Given the description of an element on the screen output the (x, y) to click on. 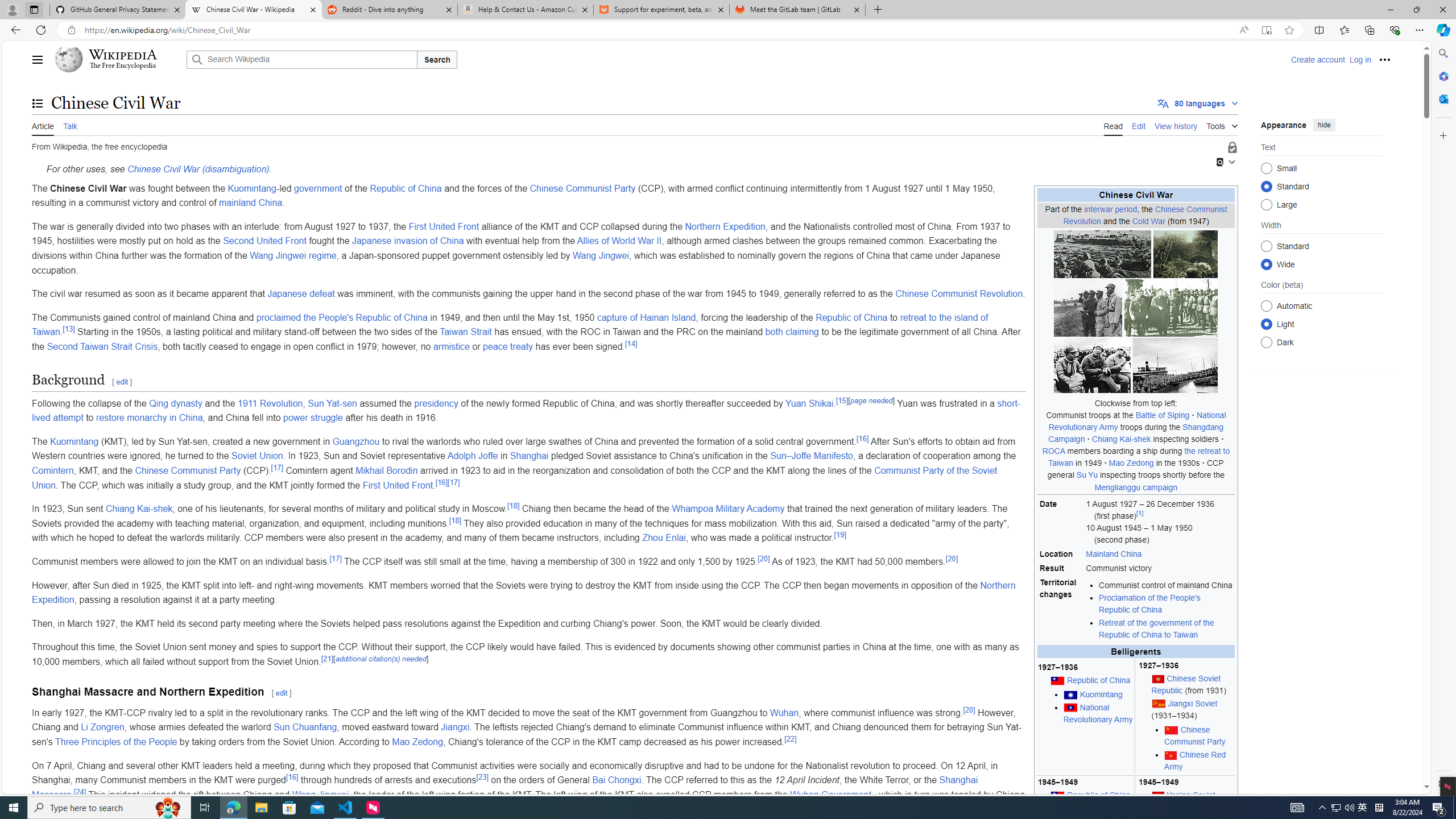
Chinese Communist Revolution (959, 293)
Second United Front (264, 240)
retreat to the island of Taiwan (510, 324)
National Revolutionary Army (1097, 712)
Page protected with pending changes (1232, 147)
Article (42, 124)
[21] (326, 658)
Chinese Communist Party (188, 470)
Whampoa Military Academy (727, 508)
GitHub General Privacy Statement - GitHub Docs (117, 9)
peace treaty (507, 346)
Mainland China (1113, 554)
